Given the description of an element on the screen output the (x, y) to click on. 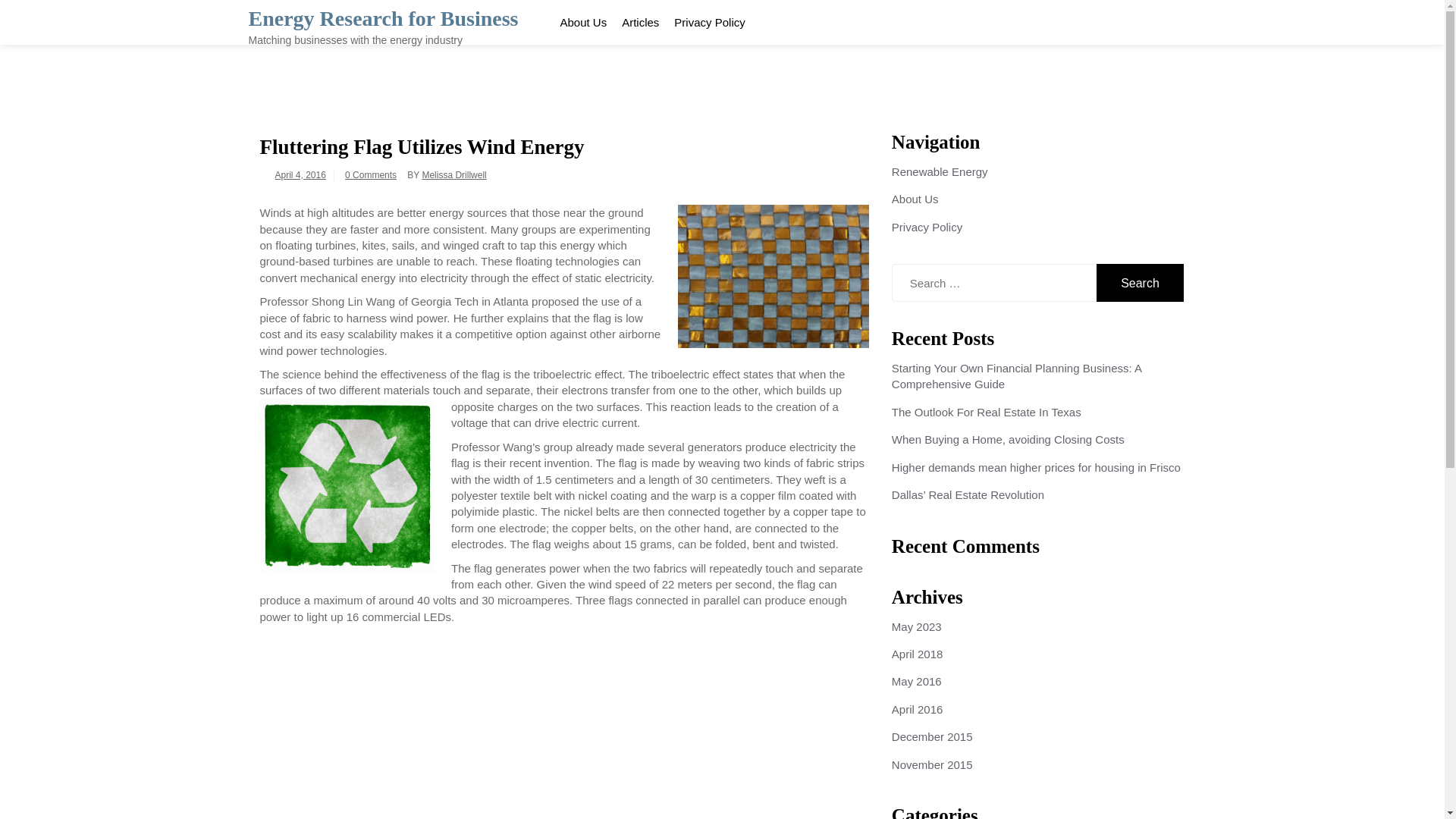
Renewable Energy (939, 171)
About Us (583, 22)
Articles (640, 22)
Higher demands mean higher prices for housing in Frisco (1035, 467)
November 2015 (931, 764)
The Outlook For Real Estate In Texas (986, 411)
Privacy Policy (926, 226)
Search (1140, 282)
Privacy Policy (709, 22)
